Given the description of an element on the screen output the (x, y) to click on. 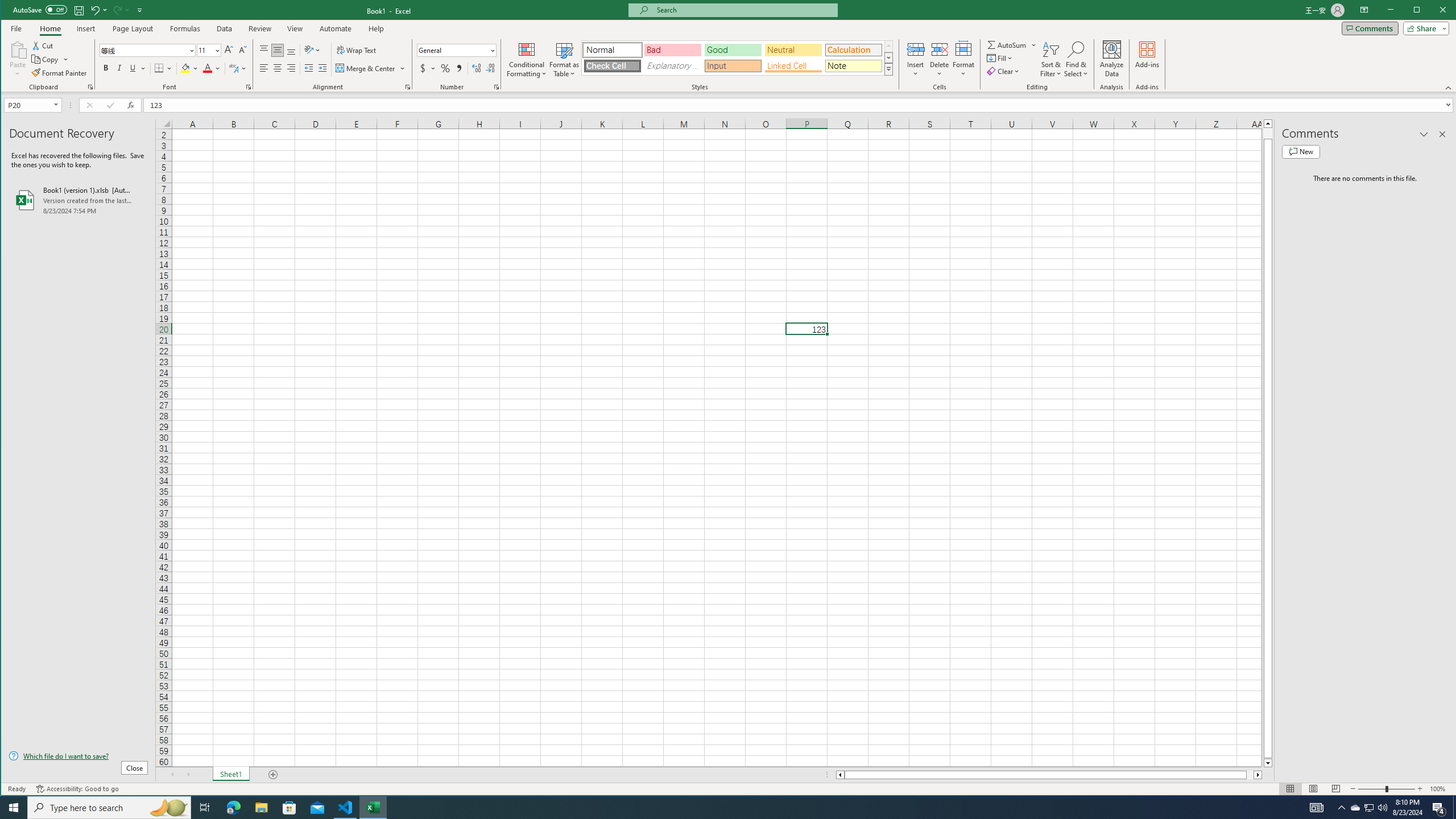
Running applications (717, 807)
Delete Cells... (939, 48)
AutomationID: 4105 (1316, 807)
Show Phonetic Field (233, 68)
Neutral (793, 49)
Bad (672, 49)
Check Cell (612, 65)
Align Right (291, 68)
Calculation (853, 49)
Good (732, 49)
Microsoft Edge (233, 807)
Bold (105, 68)
